Given the description of an element on the screen output the (x, y) to click on. 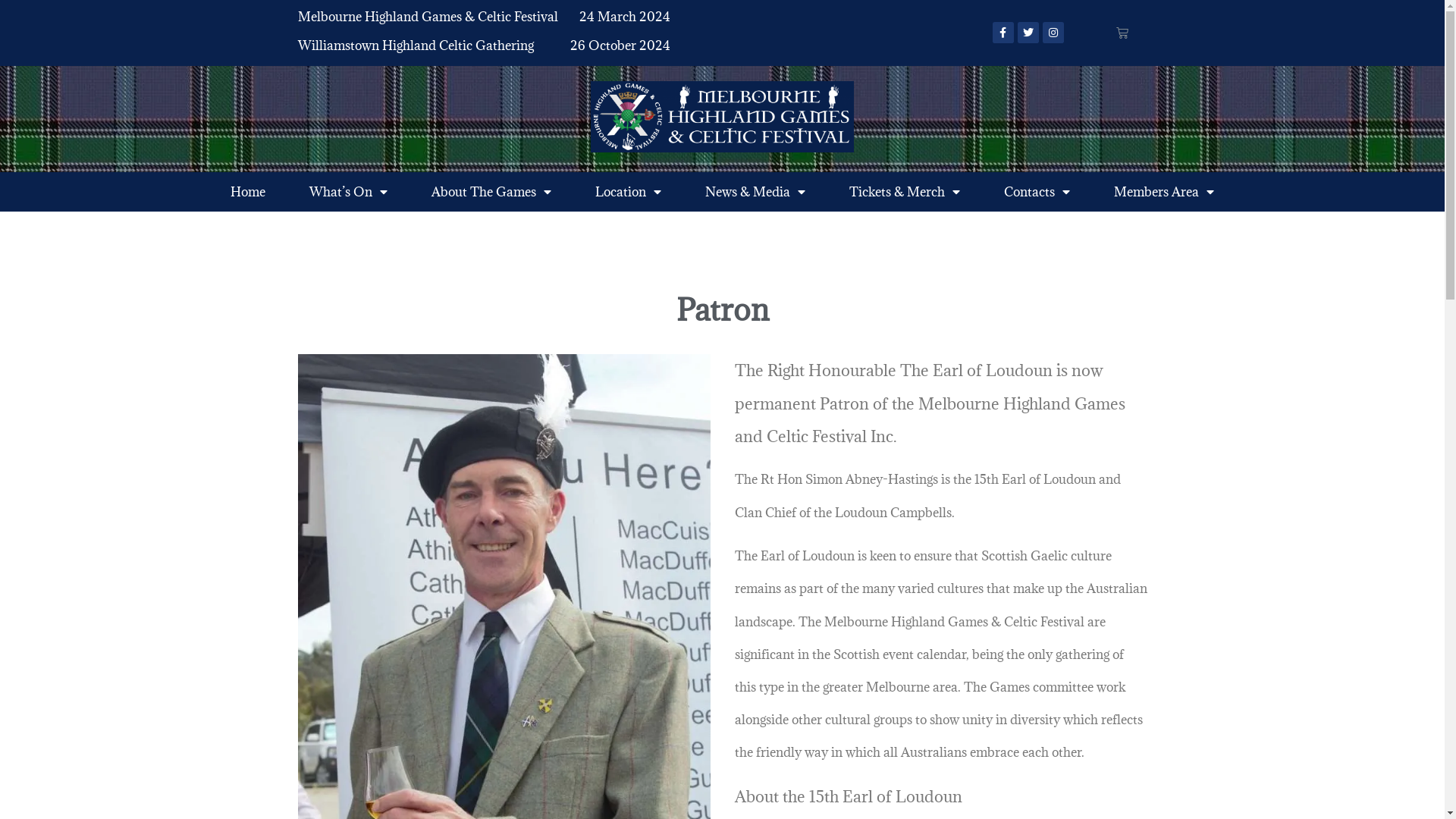
About The Games Element type: text (491, 191)
Tickets & Merch Element type: text (904, 191)
News & Media Element type: text (755, 191)
Location Element type: text (628, 191)
Members Area Element type: text (1164, 191)
Contacts Element type: text (1037, 191)
Home Element type: text (247, 191)
